Given the description of an element on the screen output the (x, y) to click on. 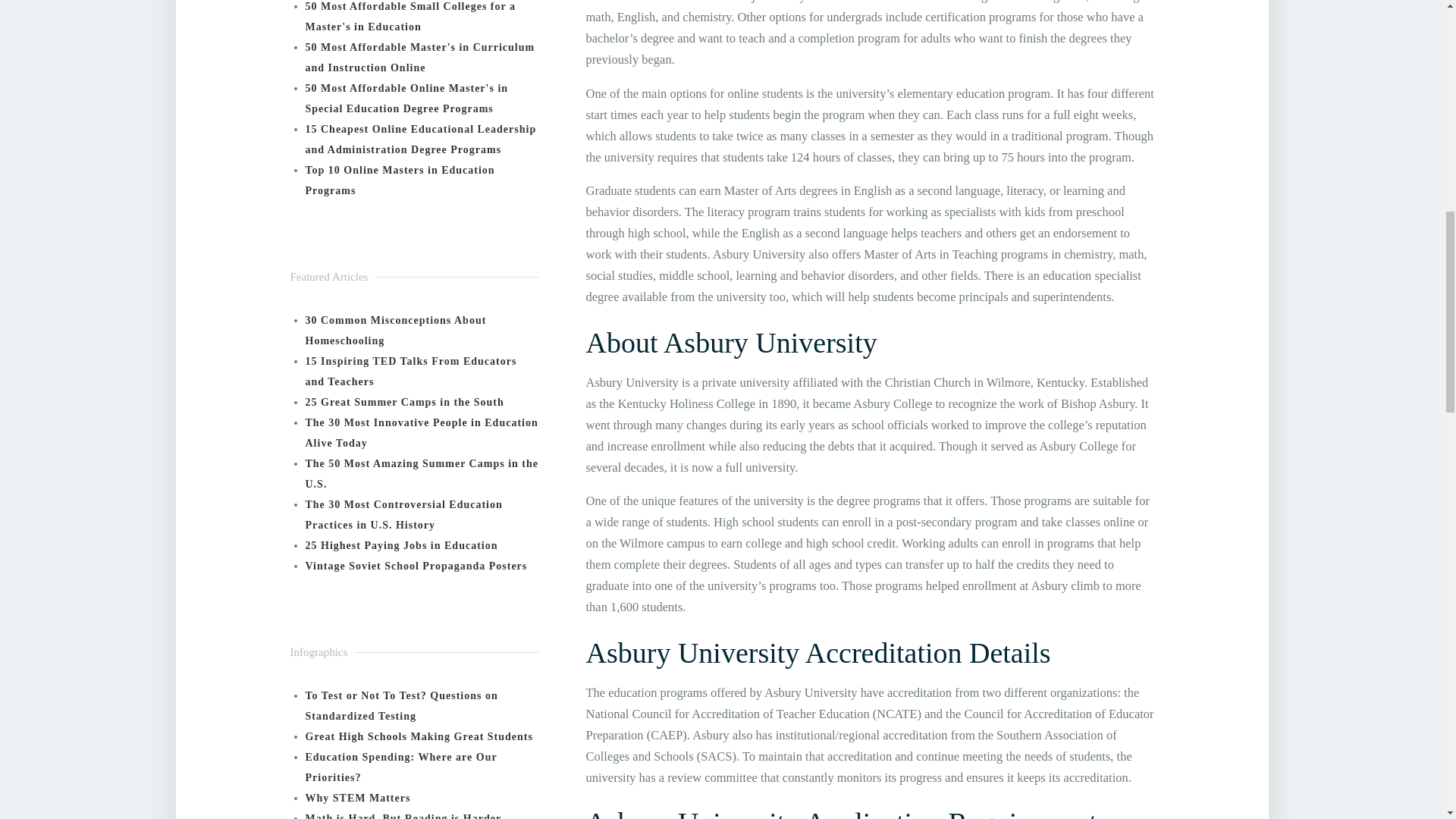
To Test or Not To Test? Questions on Standardized Testing (400, 705)
15 Inspiring TED Talks From Educators and Teachers (410, 371)
The 30 Most Innovative People in Education Alive Today (420, 432)
Top 10 Online Masters in Education Programs (399, 180)
Vintage Soviet School Propaganda Posters (415, 565)
The 50 Most Amazing Summer Camps in the U.S. (420, 473)
